Given the description of an element on the screen output the (x, y) to click on. 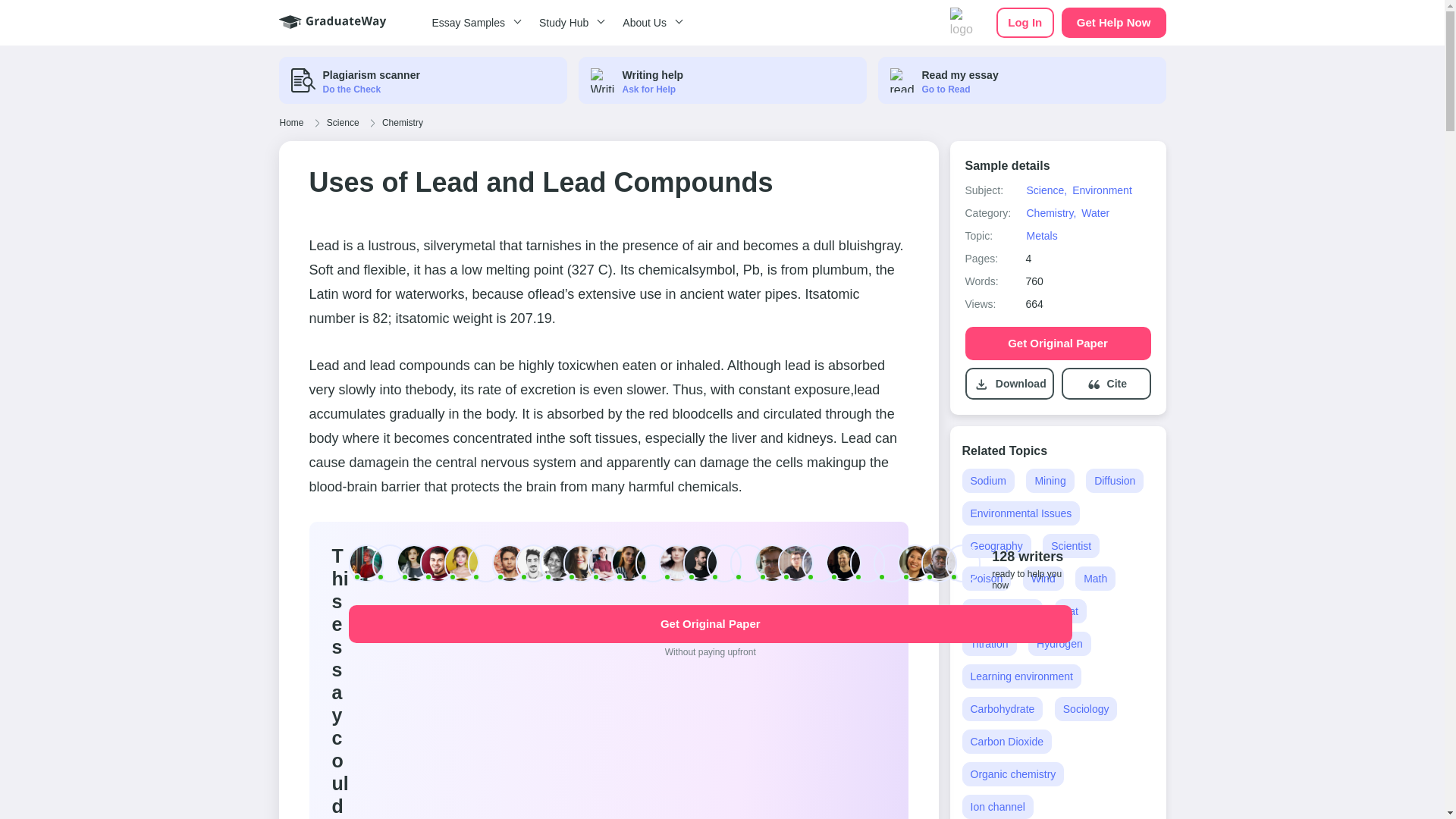
Home (291, 122)
Science, (1046, 190)
About Us (649, 22)
Essay Samples (473, 22)
Study Hub (569, 22)
Chemistry (402, 122)
Science (342, 122)
Environment (1101, 190)
Chemistry, (1051, 213)
Cite (1116, 383)
